Given the description of an element on the screen output the (x, y) to click on. 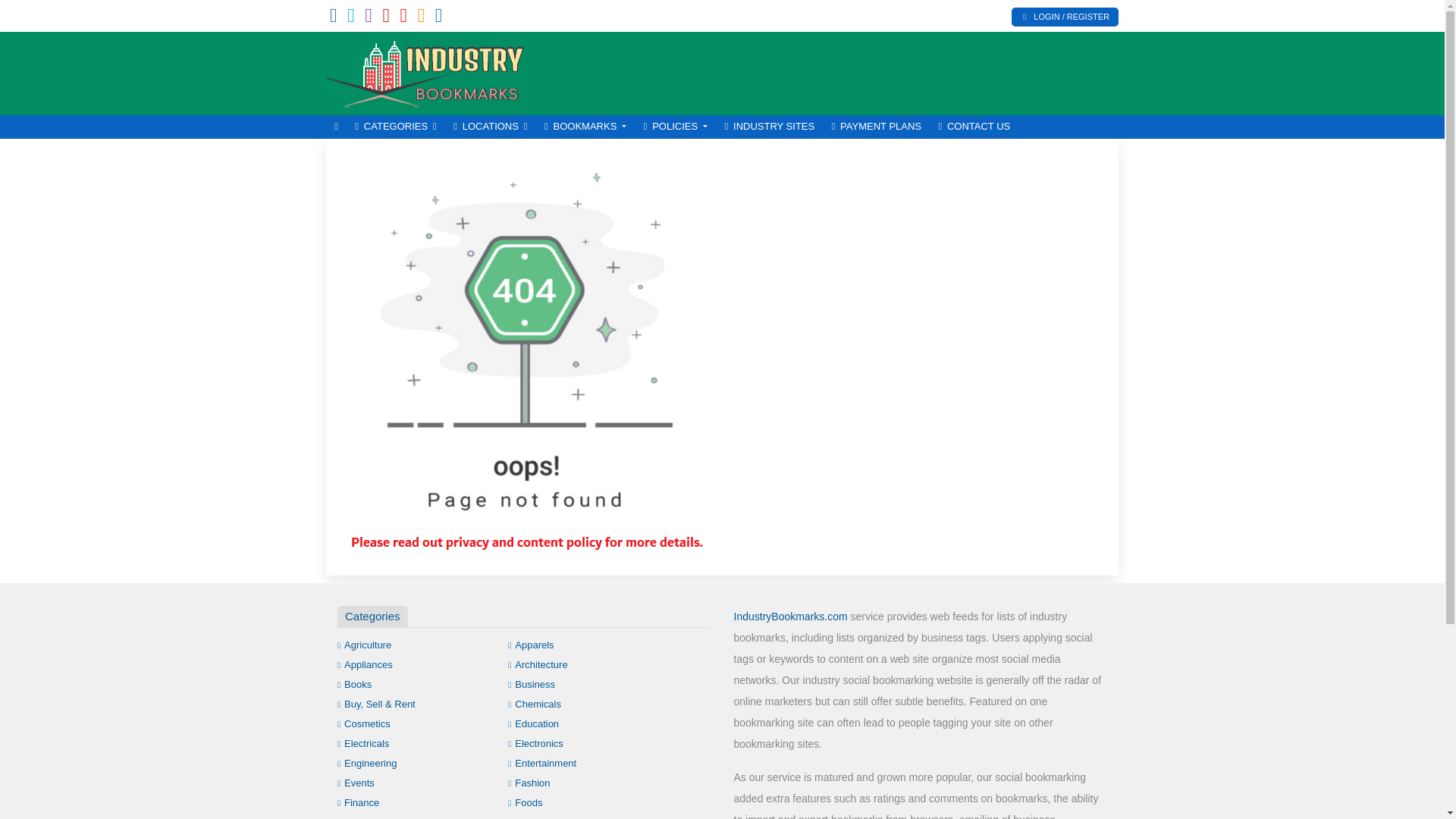
LOCATIONS (490, 126)
CATEGORIES (395, 126)
Search, Manage and Store Industrial Products and Services (428, 71)
